Given the description of an element on the screen output the (x, y) to click on. 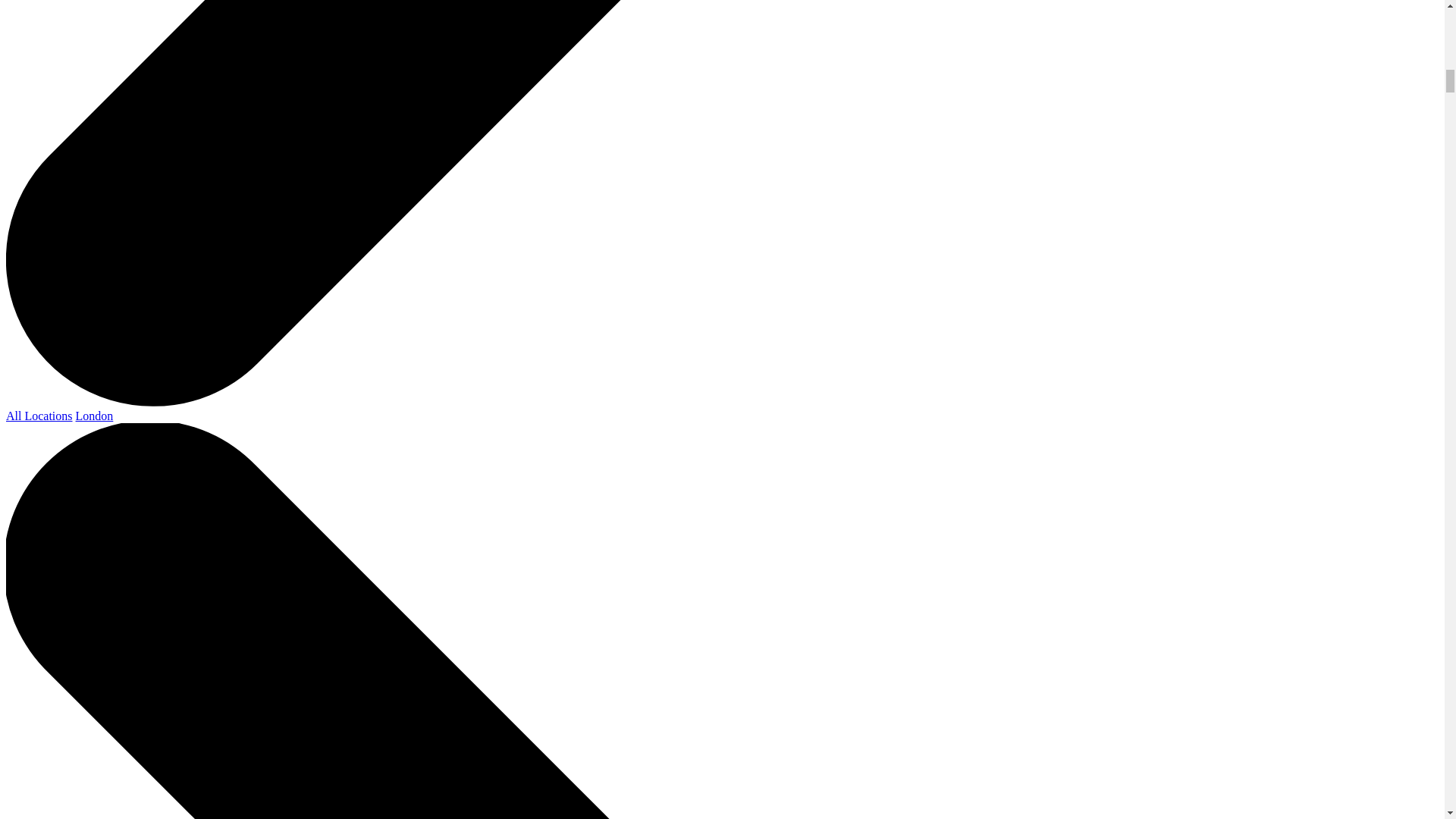
All Locations (38, 415)
All Locations (38, 415)
